Given the description of an element on the screen output the (x, y) to click on. 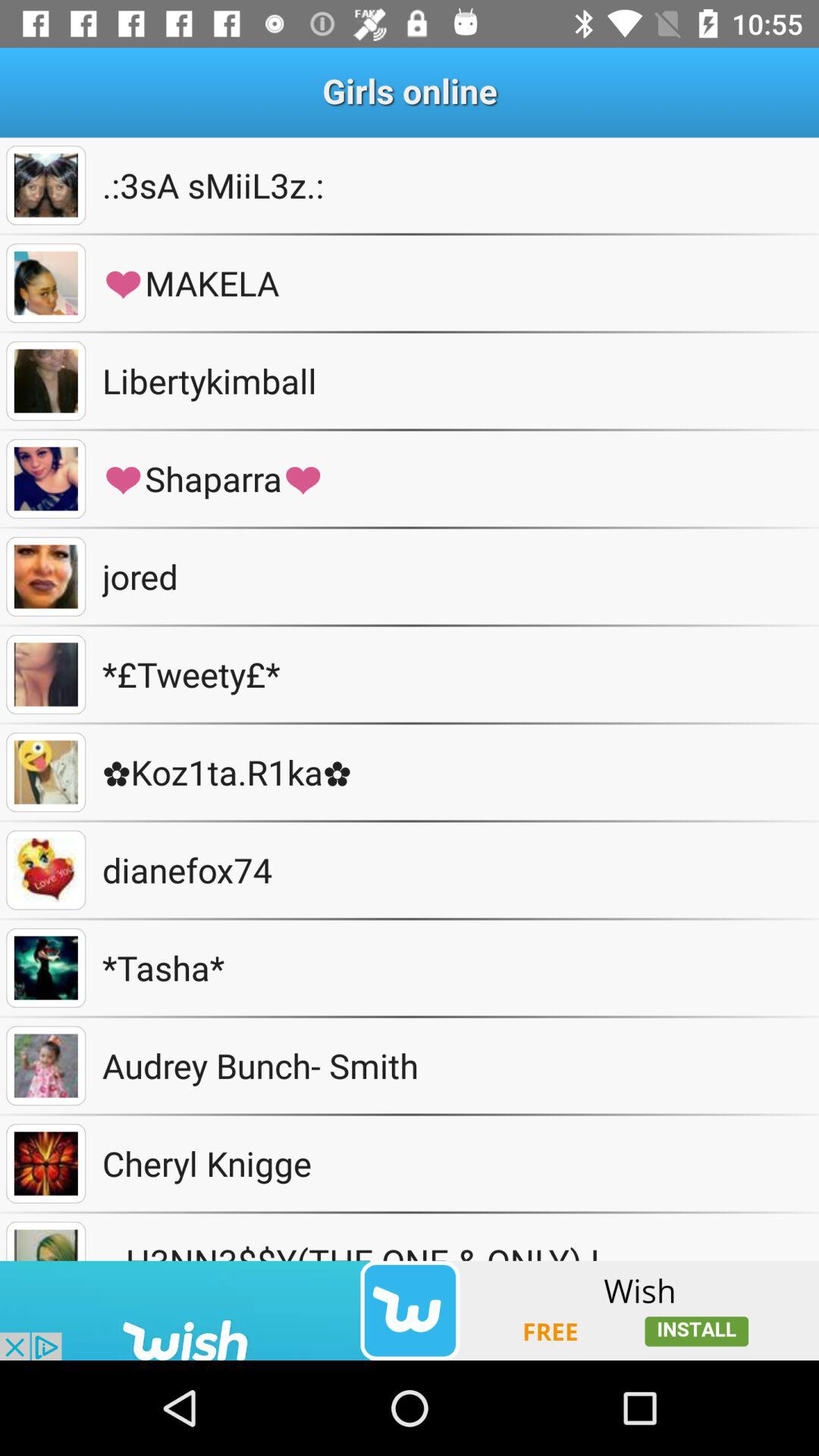
whats app page (45, 283)
